Given the description of an element on the screen output the (x, y) to click on. 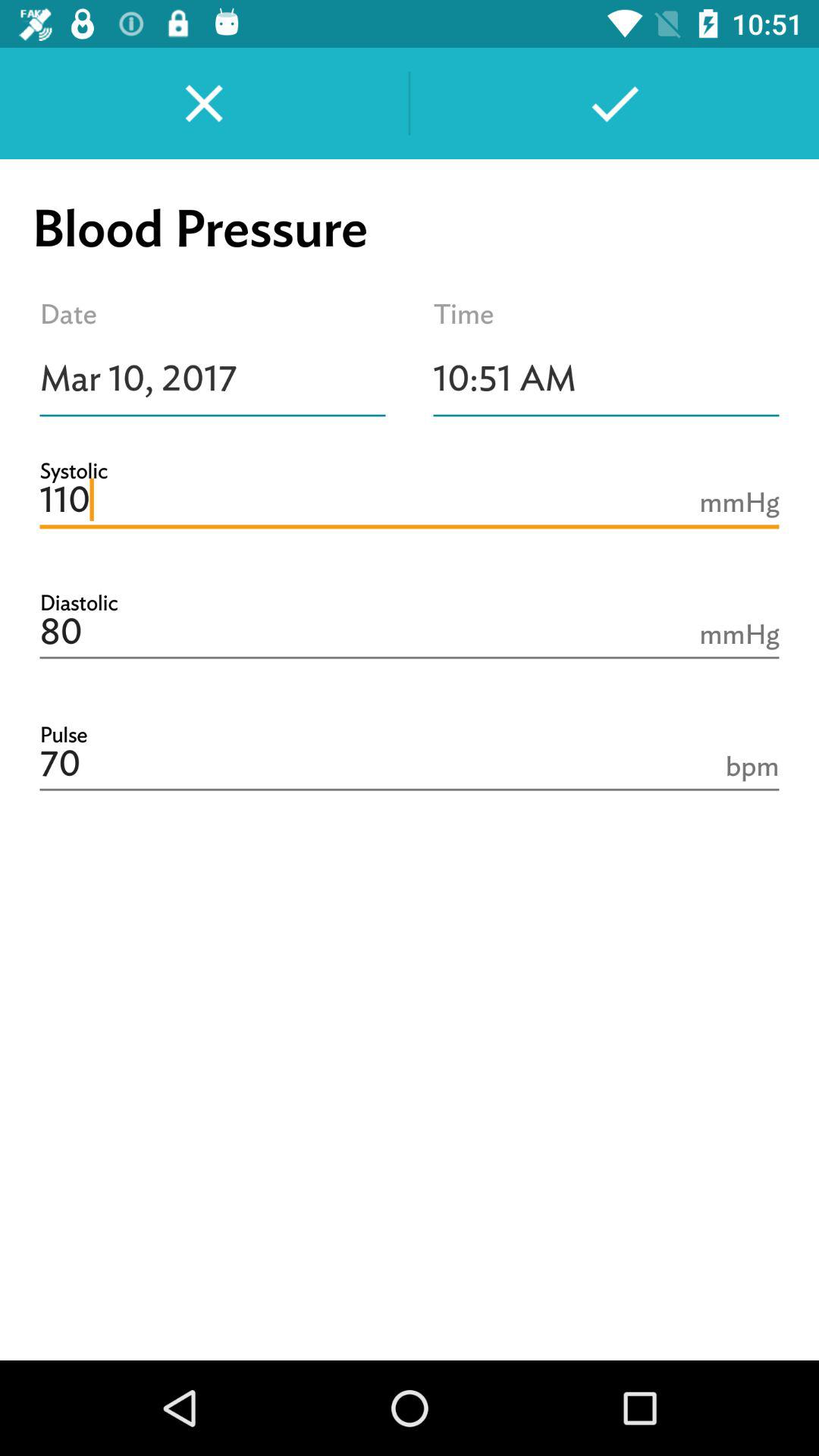
scroll to 10:51 am (606, 378)
